Given the description of an element on the screen output the (x, y) to click on. 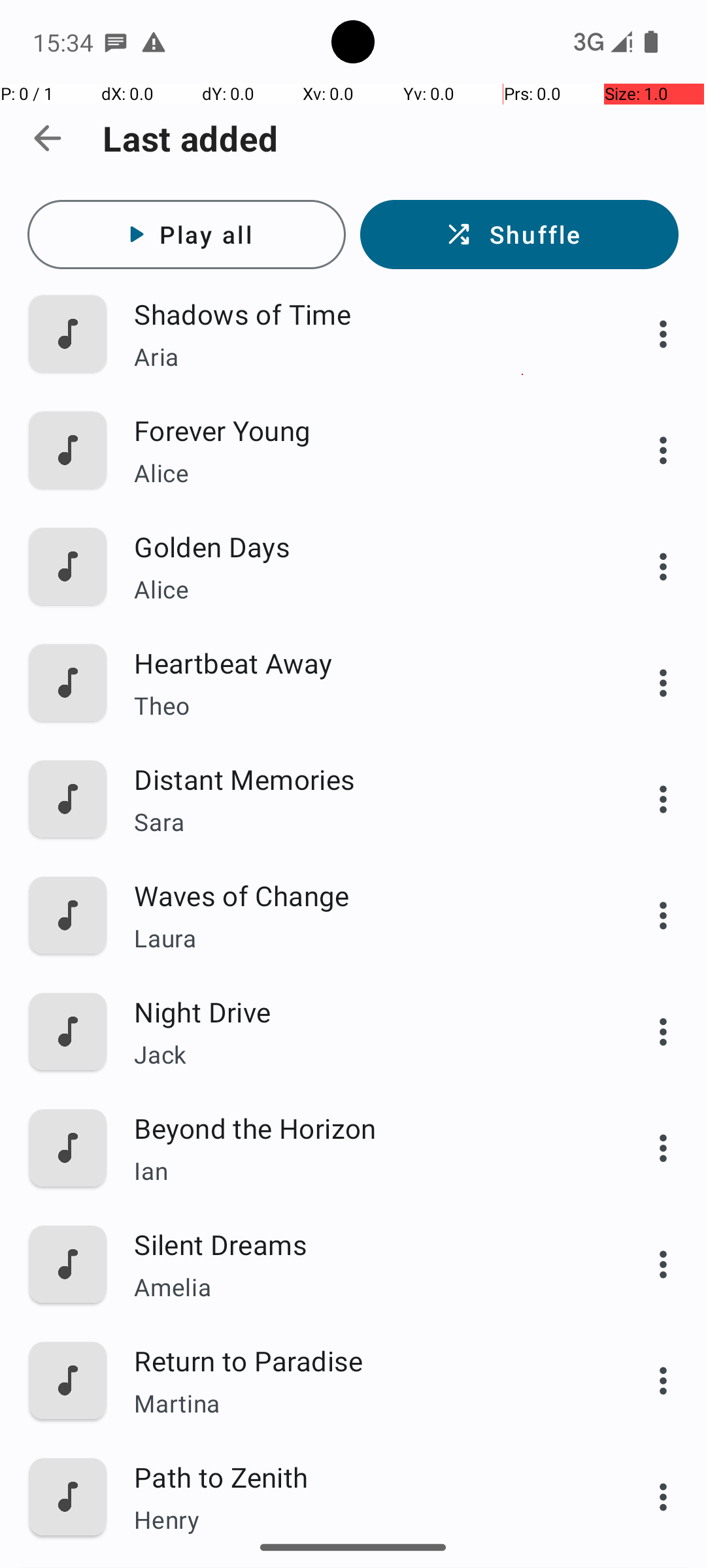
Last added Element type: android.widget.TextView (190, 137)
Play all Element type: android.widget.Button (186, 234)
Shuffle Element type: android.widget.Button (519, 234)
Shadows of Time Element type: android.widget.TextView (363, 313)
Aria Element type: android.widget.TextView (363, 356)
Forever Young Element type: android.widget.TextView (363, 429)
Alice Element type: android.widget.TextView (363, 472)
Golden Days Element type: android.widget.TextView (363, 546)
Heartbeat Away Element type: android.widget.TextView (363, 662)
Theo Element type: android.widget.TextView (363, 704)
Distant Memories Element type: android.widget.TextView (363, 778)
Sara Element type: android.widget.TextView (363, 821)
Waves of Change Element type: android.widget.TextView (363, 895)
Laura Element type: android.widget.TextView (363, 937)
Night Drive Element type: android.widget.TextView (363, 1011)
Jack Element type: android.widget.TextView (363, 1053)
Beyond the Horizon Element type: android.widget.TextView (363, 1127)
Ian Element type: android.widget.TextView (363, 1170)
Silent Dreams Element type: android.widget.TextView (363, 1243)
Amelia Element type: android.widget.TextView (363, 1286)
Return to Paradise Element type: android.widget.TextView (363, 1360)
Martina Element type: android.widget.TextView (363, 1402)
Path to Zenith Element type: android.widget.TextView (363, 1476)
Henry Element type: android.widget.TextView (363, 1518)
